Given the description of an element on the screen output the (x, y) to click on. 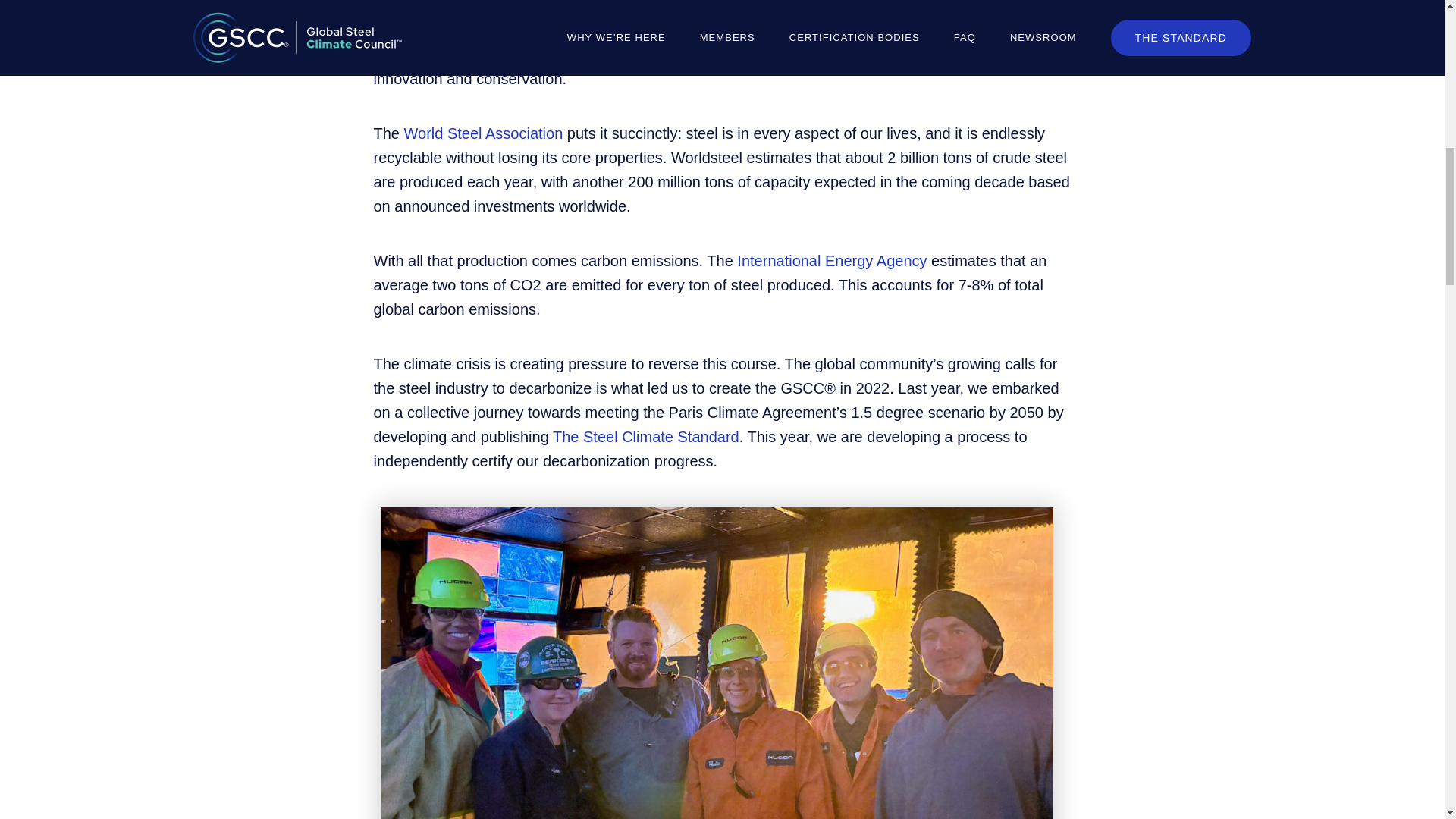
International Energy Agency (831, 260)
The Steel Climate Standard (646, 436)
World Steel Association (483, 133)
